Given the description of an element on the screen output the (x, y) to click on. 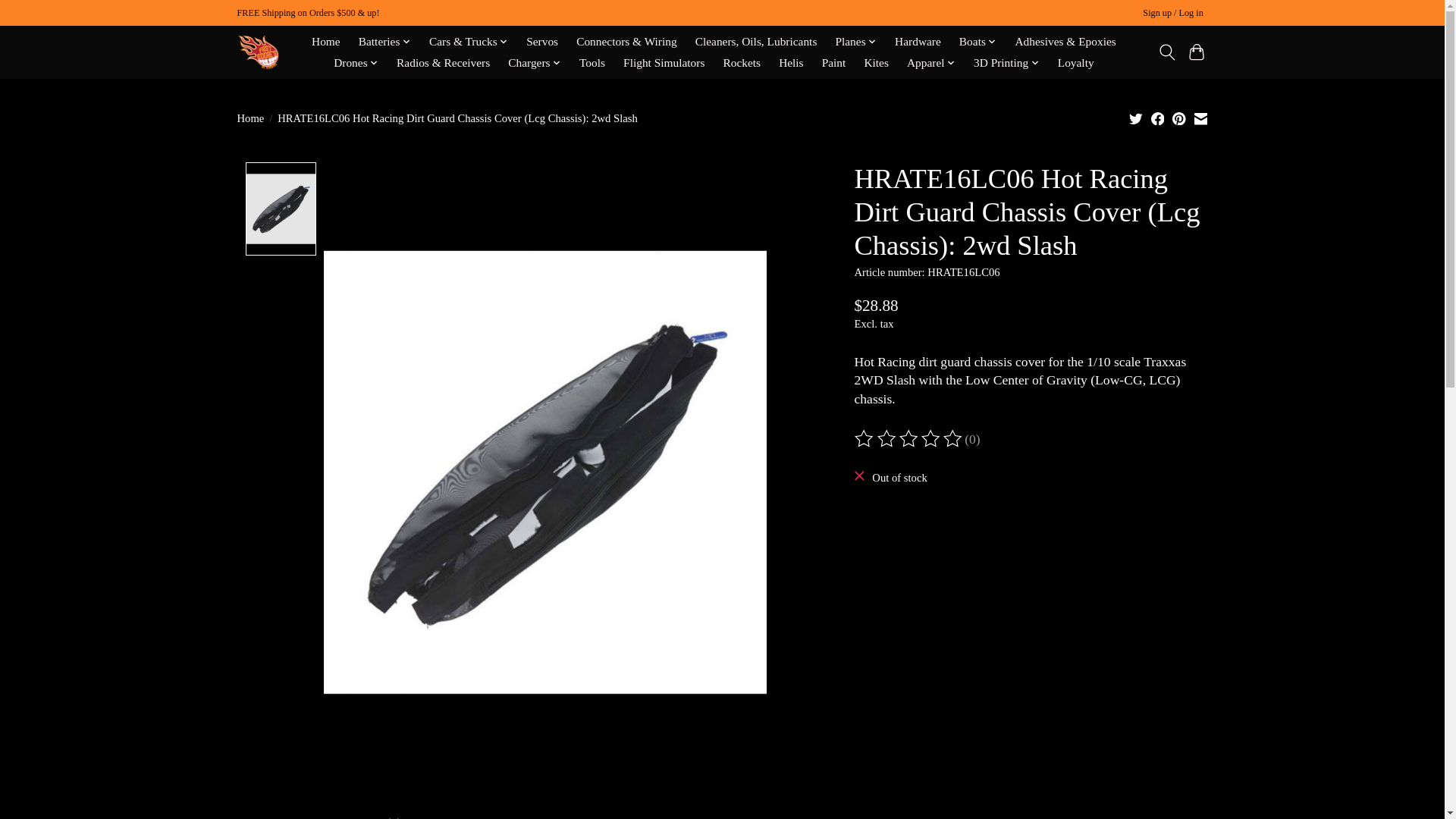
Share on Facebook (1157, 118)
Share on Pinterest (1178, 118)
Chargers (534, 62)
Home (325, 41)
My account (1173, 13)
Tools (591, 62)
Drones (356, 62)
Cleaners, Oils, Lubricants (755, 41)
Fast Eddie's RC Hobbies (256, 51)
Planes (855, 41)
